Given the description of an element on the screen output the (x, y) to click on. 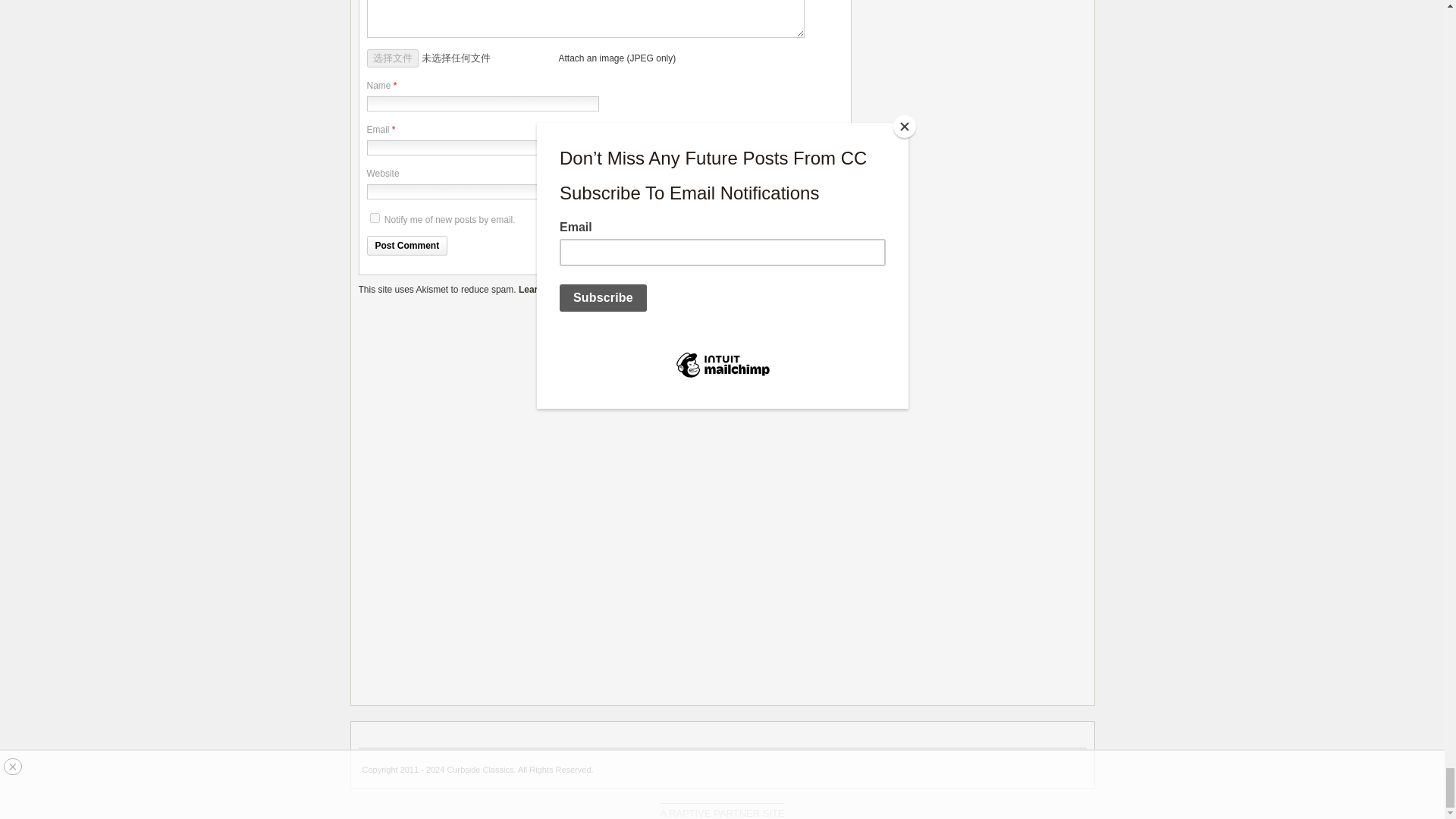
Post Comment (407, 245)
subscribe (374, 217)
